Given the description of an element on the screen output the (x, y) to click on. 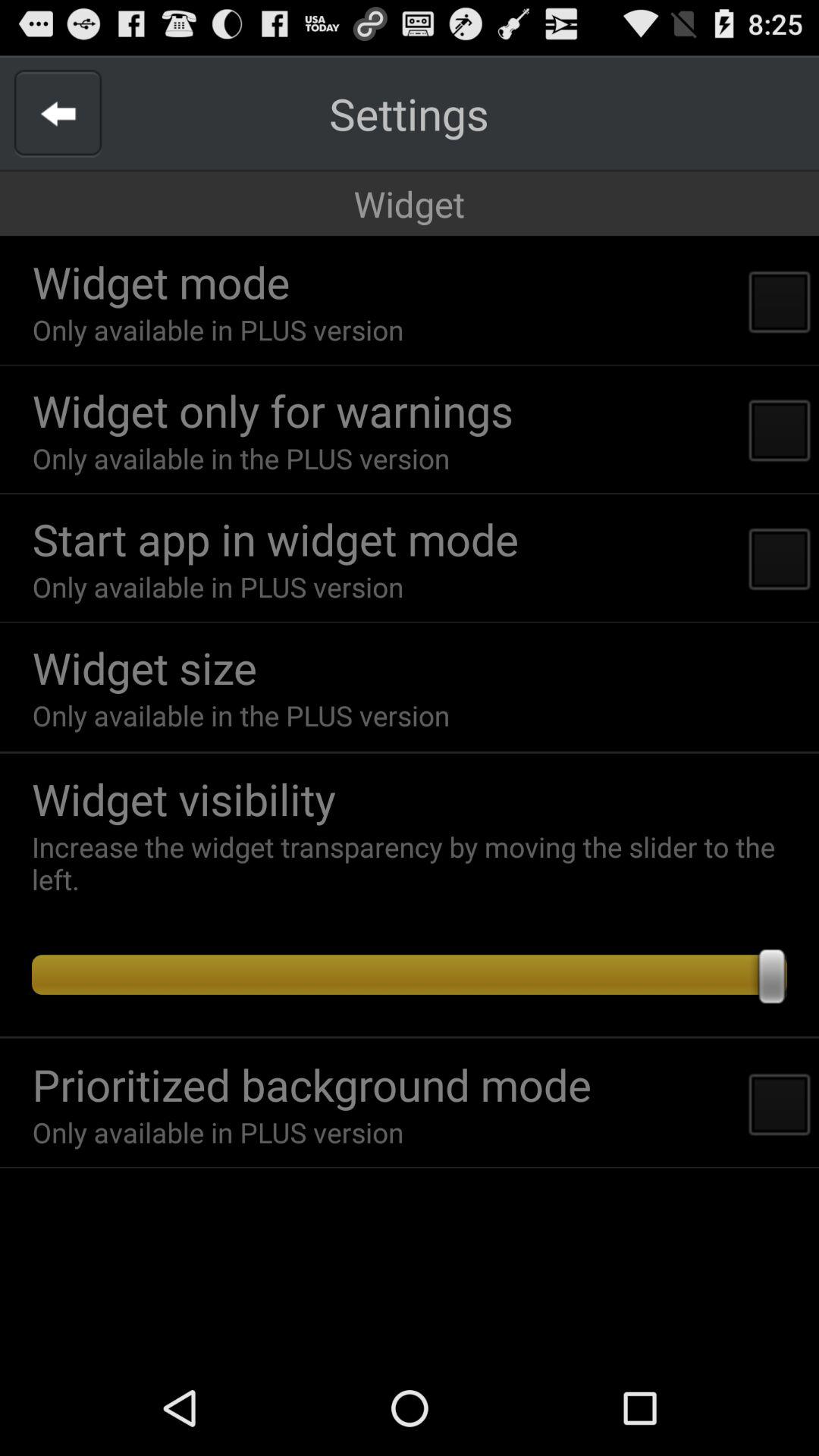
scroll to the increase the widget (417, 863)
